Given the description of an element on the screen output the (x, y) to click on. 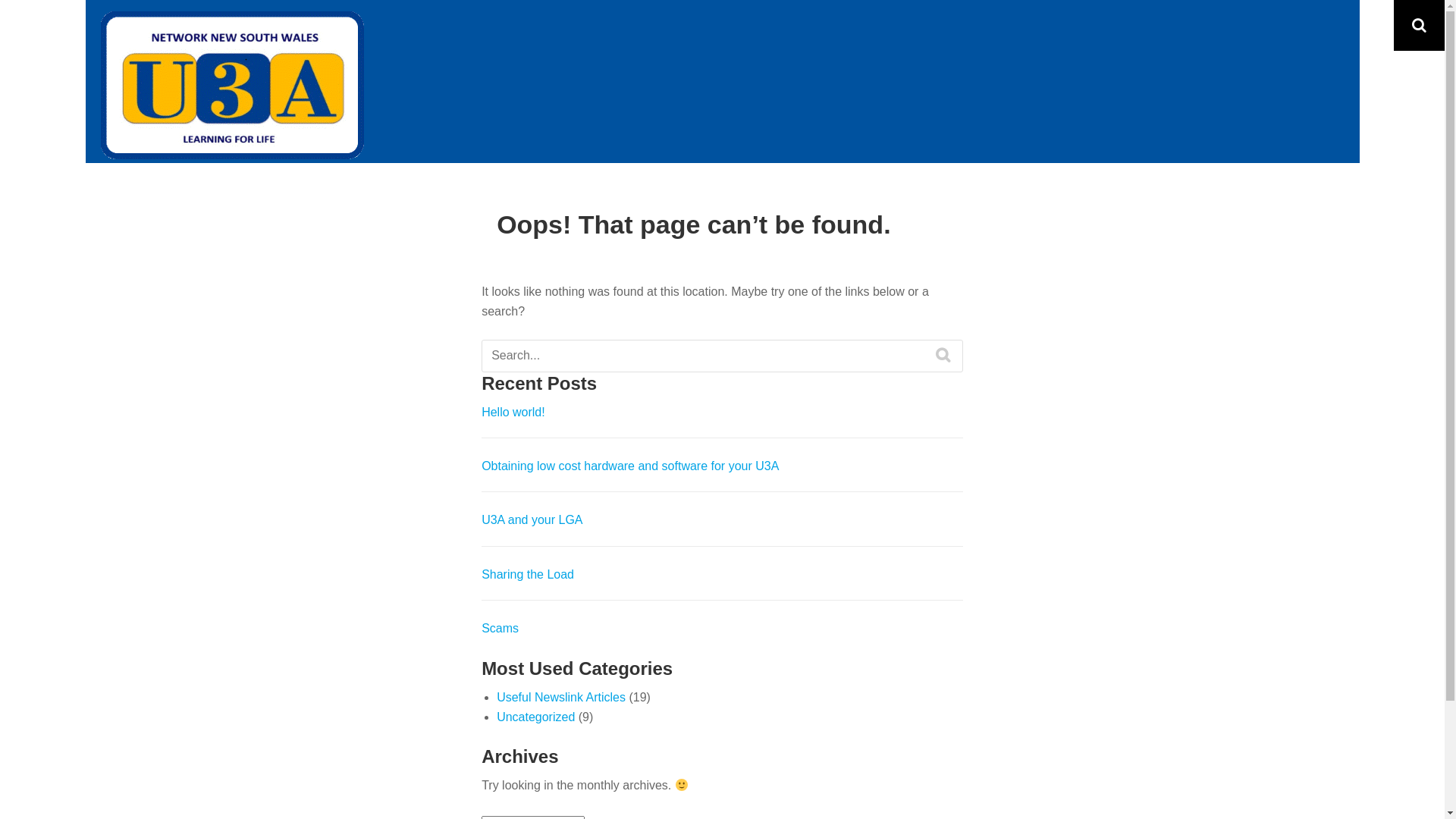
Hello world! Element type: text (513, 411)
Useful Newslink Articles Element type: text (560, 696)
Uncategorized Element type: text (535, 716)
Search for: Element type: hover (722, 355)
Sharing the Load Element type: text (527, 573)
Obtaining low cost hardware and software for your U3A Element type: text (629, 465)
U3A and your LGA Element type: text (531, 519)
SEARCH Element type: text (942, 354)
Skip to content Element type: text (0, 0)
Scams Element type: text (499, 627)
